Given the description of an element on the screen output the (x, y) to click on. 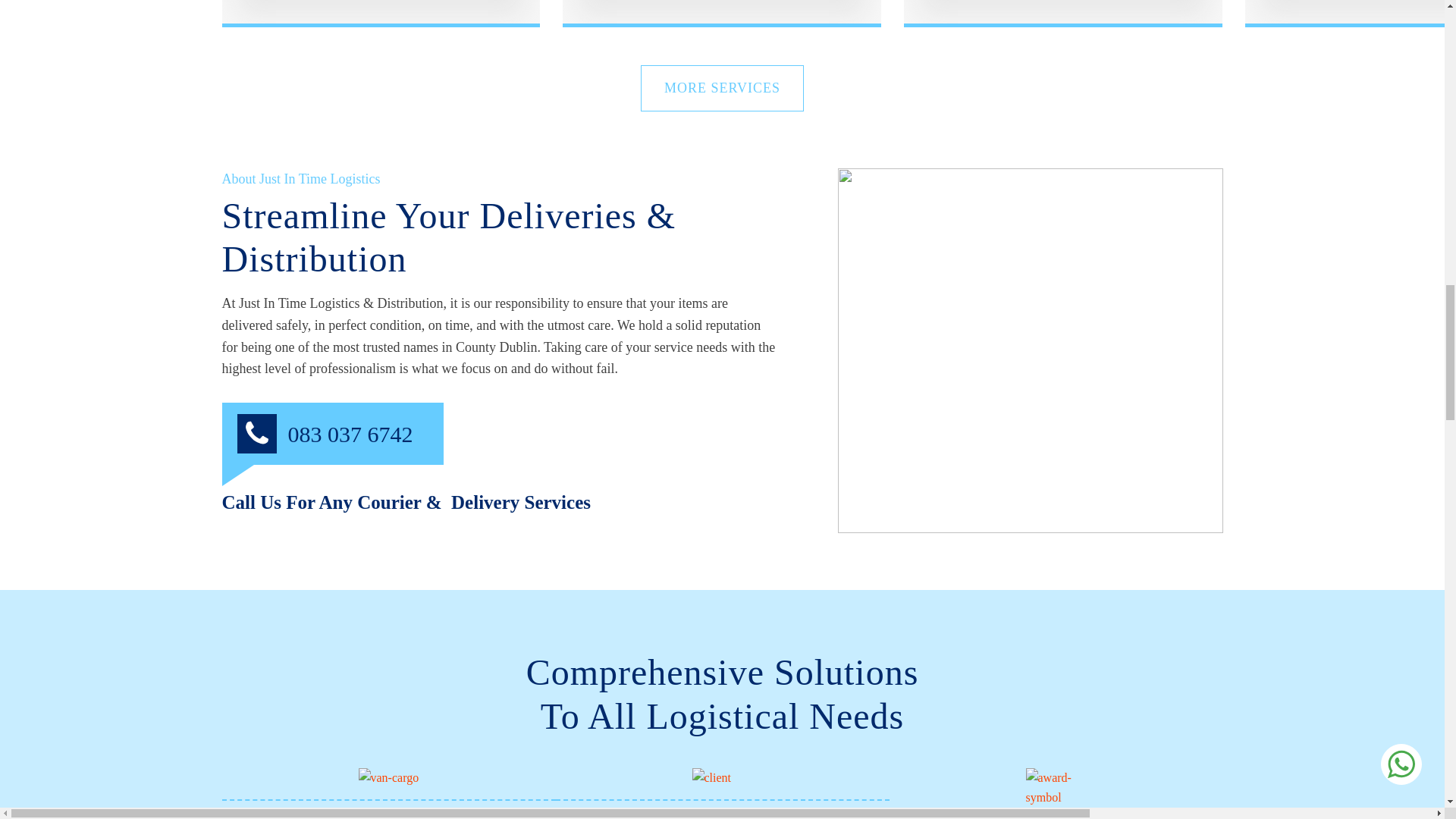
Courier Services (380, 13)
MORE SERVICES (721, 88)
Ikea Collections (1063, 13)
Delivery Services (721, 13)
083 037 6742 (350, 433)
Market Place Delivery (1350, 13)
